Given the description of an element on the screen output the (x, y) to click on. 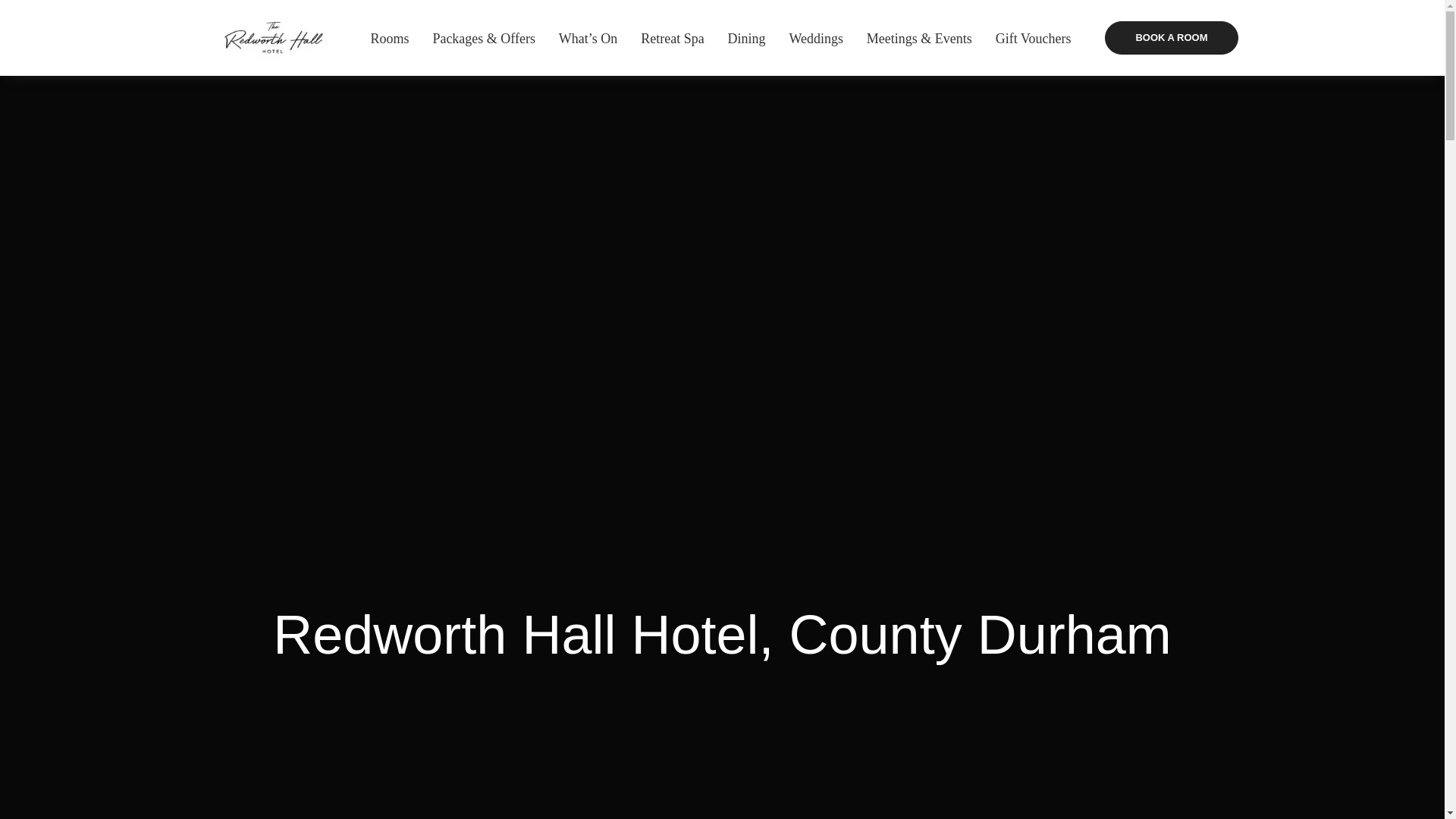
BOOK A ROOM (1171, 37)
Gift Vouchers (1033, 38)
Weddings (816, 38)
Dining (746, 38)
Retreat Spa (671, 38)
Rooms (389, 38)
